Given the description of an element on the screen output the (x, y) to click on. 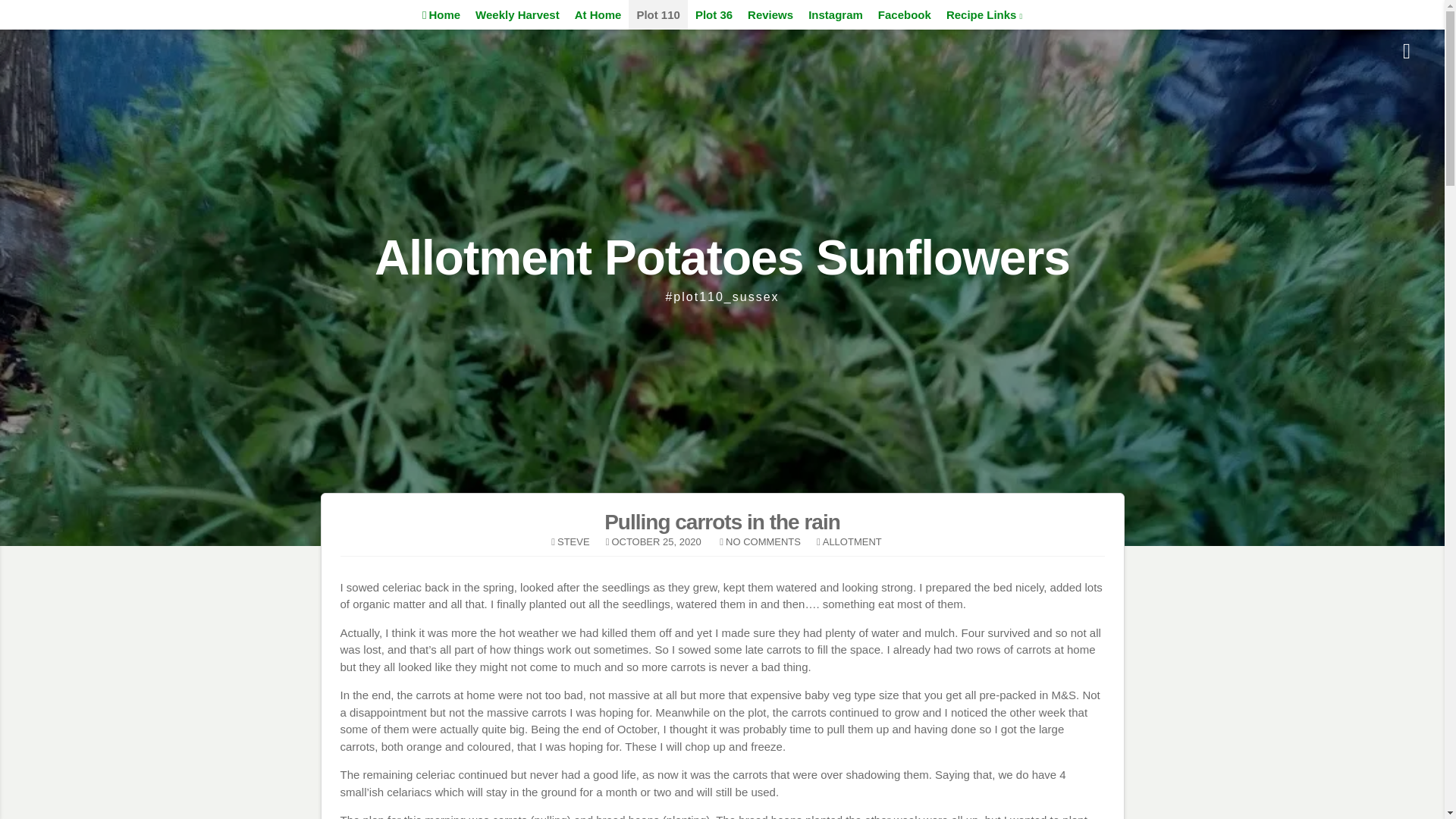
NO COMMENTS (762, 541)
ALLOTMENT (852, 541)
Weekly Harvest (517, 14)
Recipe Links (984, 14)
Reviews (769, 14)
Instagram (835, 14)
OCTOBER 25, 2020 (655, 541)
Allotment Potatoes Sunflowers (722, 257)
Plot 110 (657, 14)
Plot 36 (713, 14)
Facebook (904, 14)
STEVE (573, 541)
Home (440, 14)
At Home (597, 14)
